Given the description of an element on the screen output the (x, y) to click on. 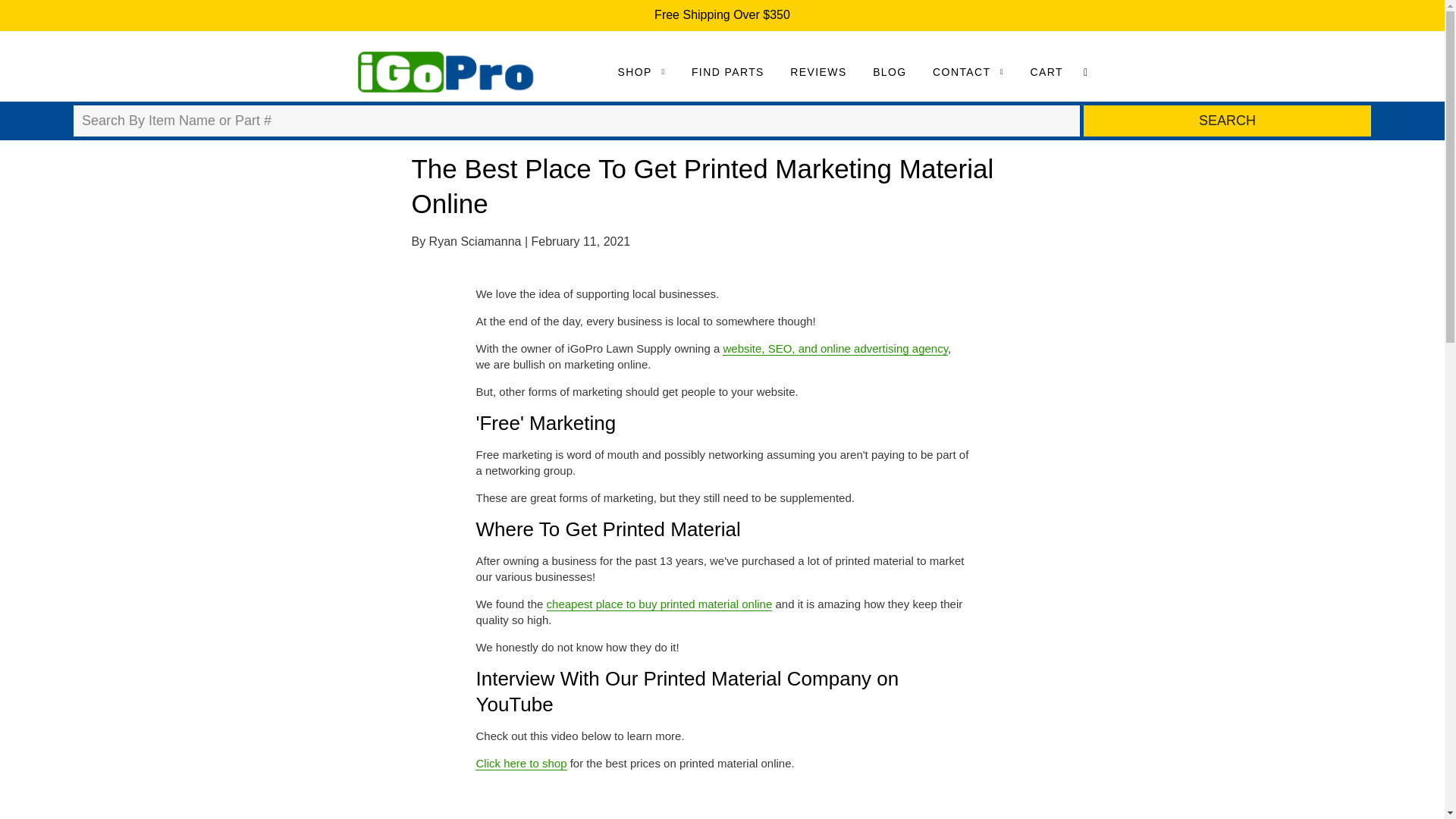
SEARCH (1227, 120)
SHOP (642, 72)
SEARCH (1227, 120)
